Given the description of an element on the screen output the (x, y) to click on. 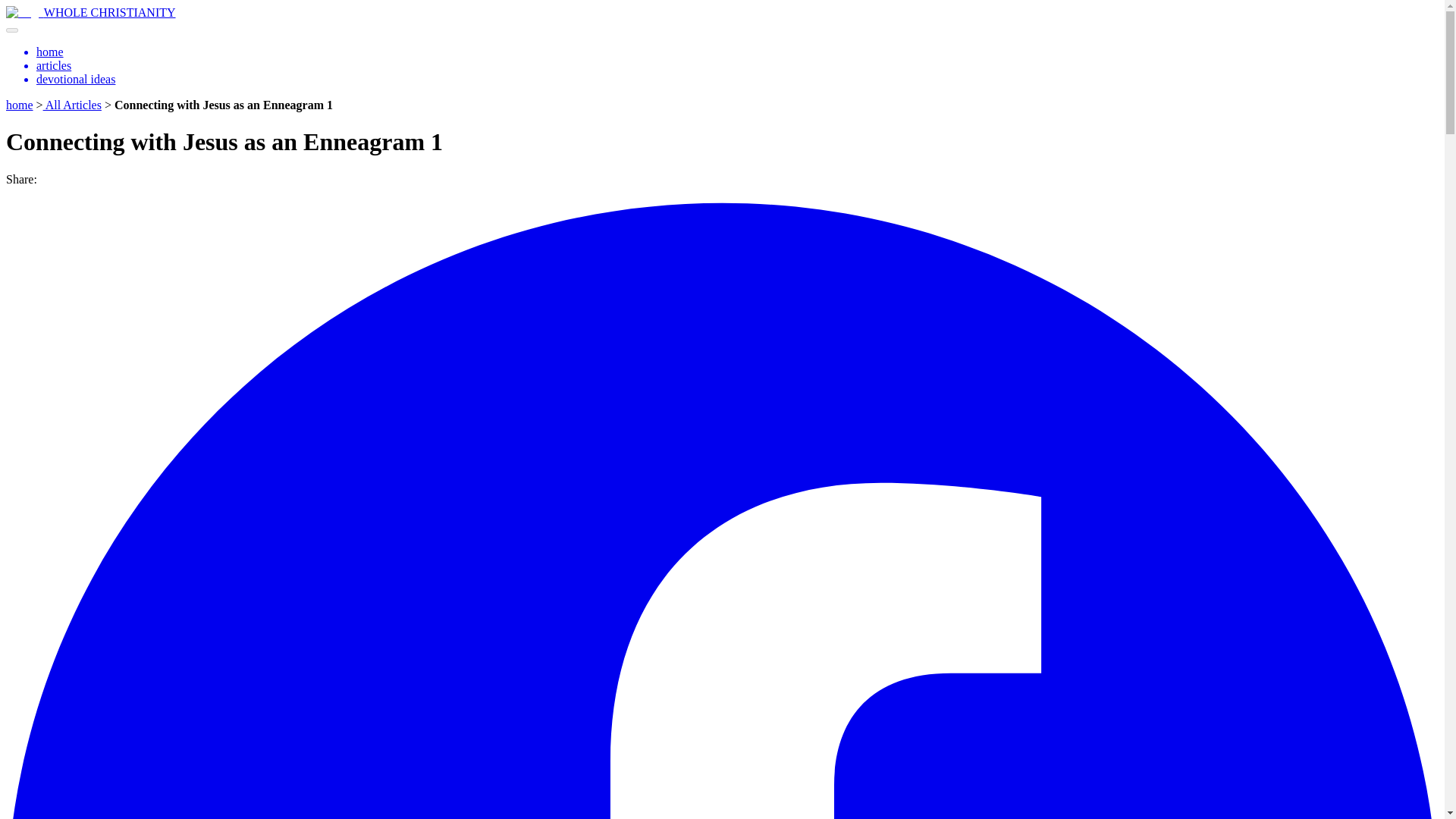
All Articles (72, 104)
WHOLE CHRISTIANITY (109, 11)
home (19, 104)
